Given the description of an element on the screen output the (x, y) to click on. 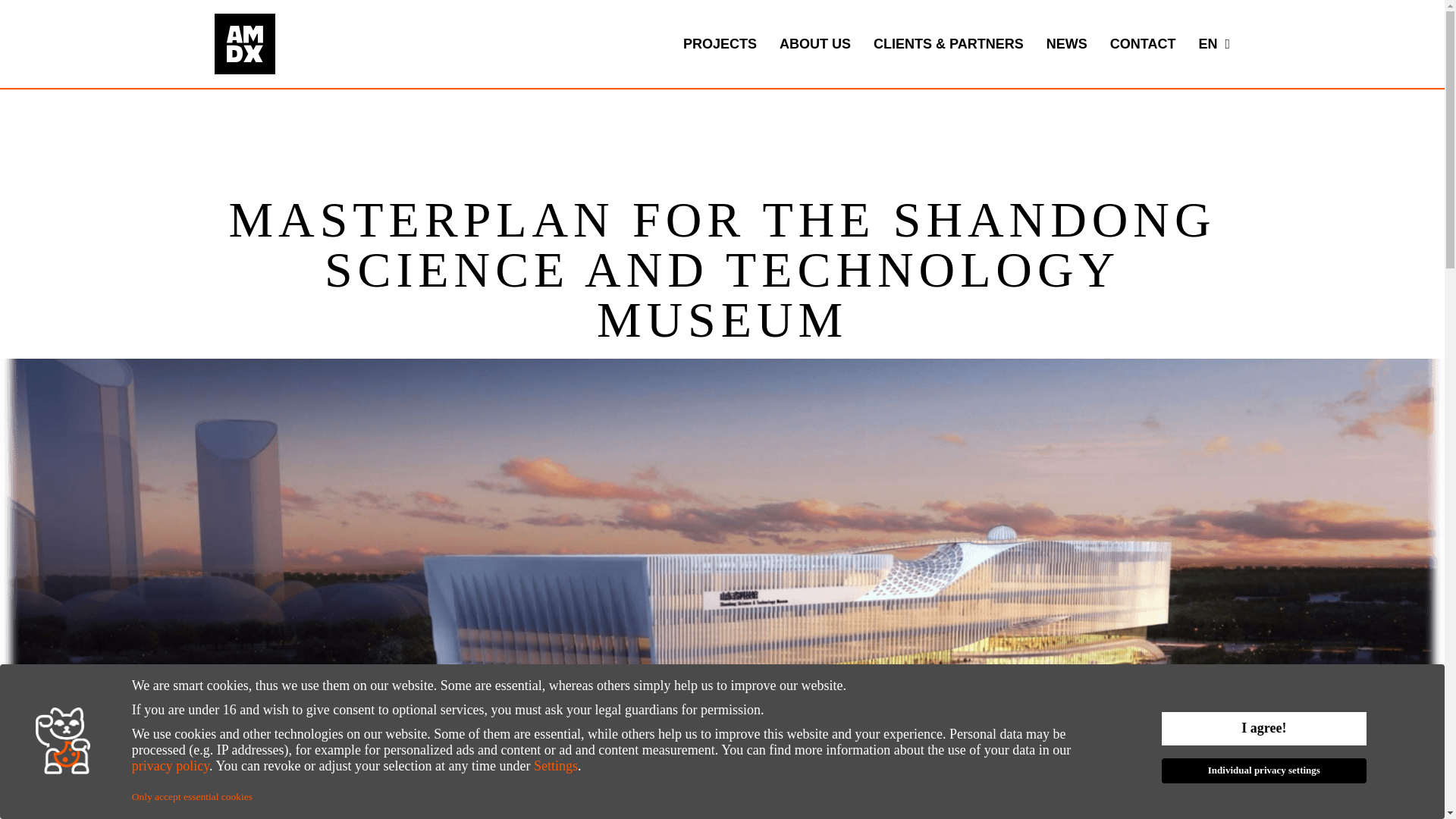
CONTACT (1143, 43)
EN (1208, 43)
ABOUT US (814, 43)
NEWS (1067, 43)
PROJECTS (719, 43)
